Given the description of an element on the screen output the (x, y) to click on. 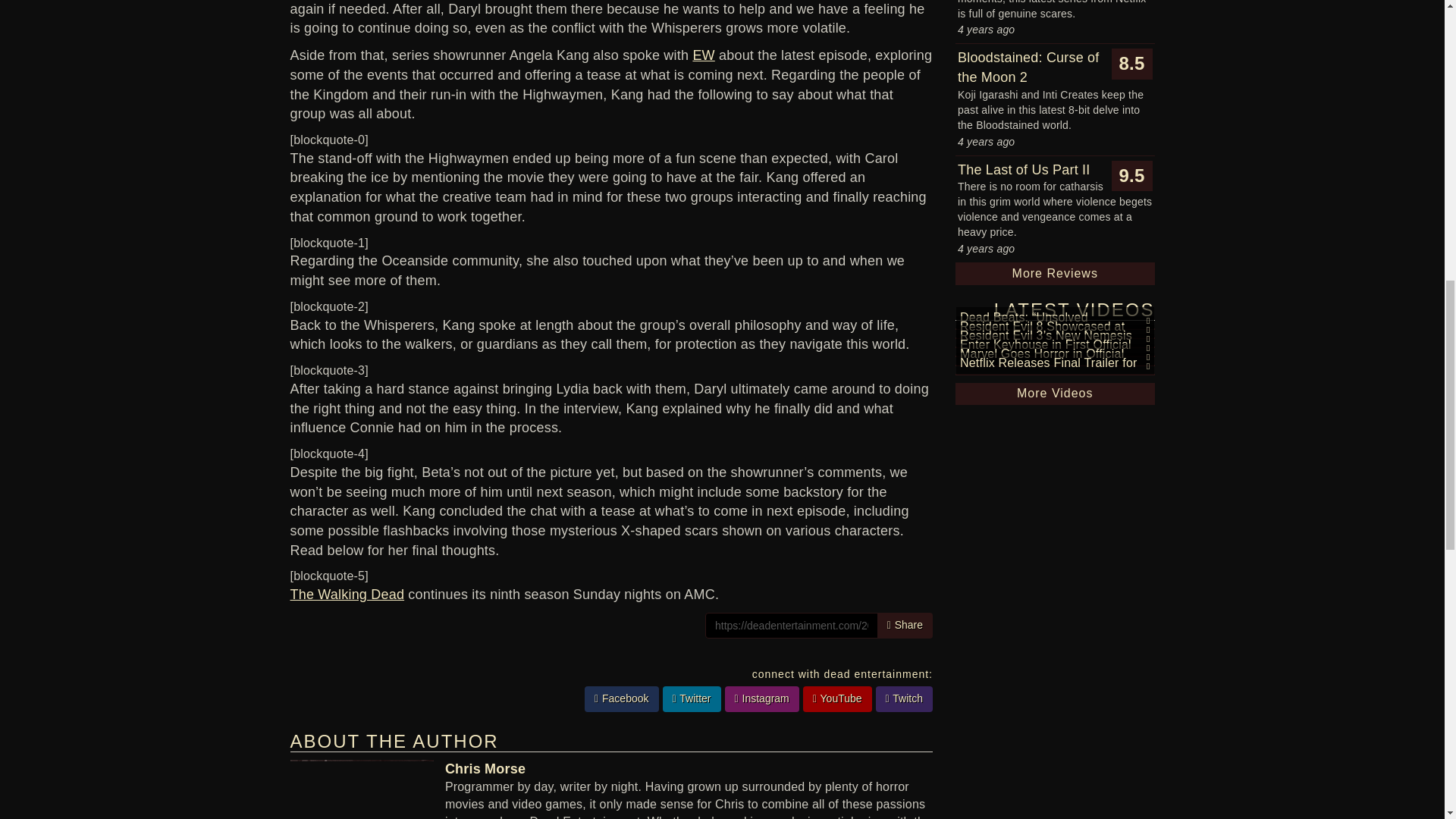
Twitter (691, 698)
Twitch (904, 698)
Twitch (904, 698)
Facebook (622, 698)
Chris Morse (485, 768)
The Walking Dead (346, 594)
EW (703, 55)
YouTube (837, 698)
Twitter (691, 698)
YouTube (837, 698)
